Given the description of an element on the screen output the (x, y) to click on. 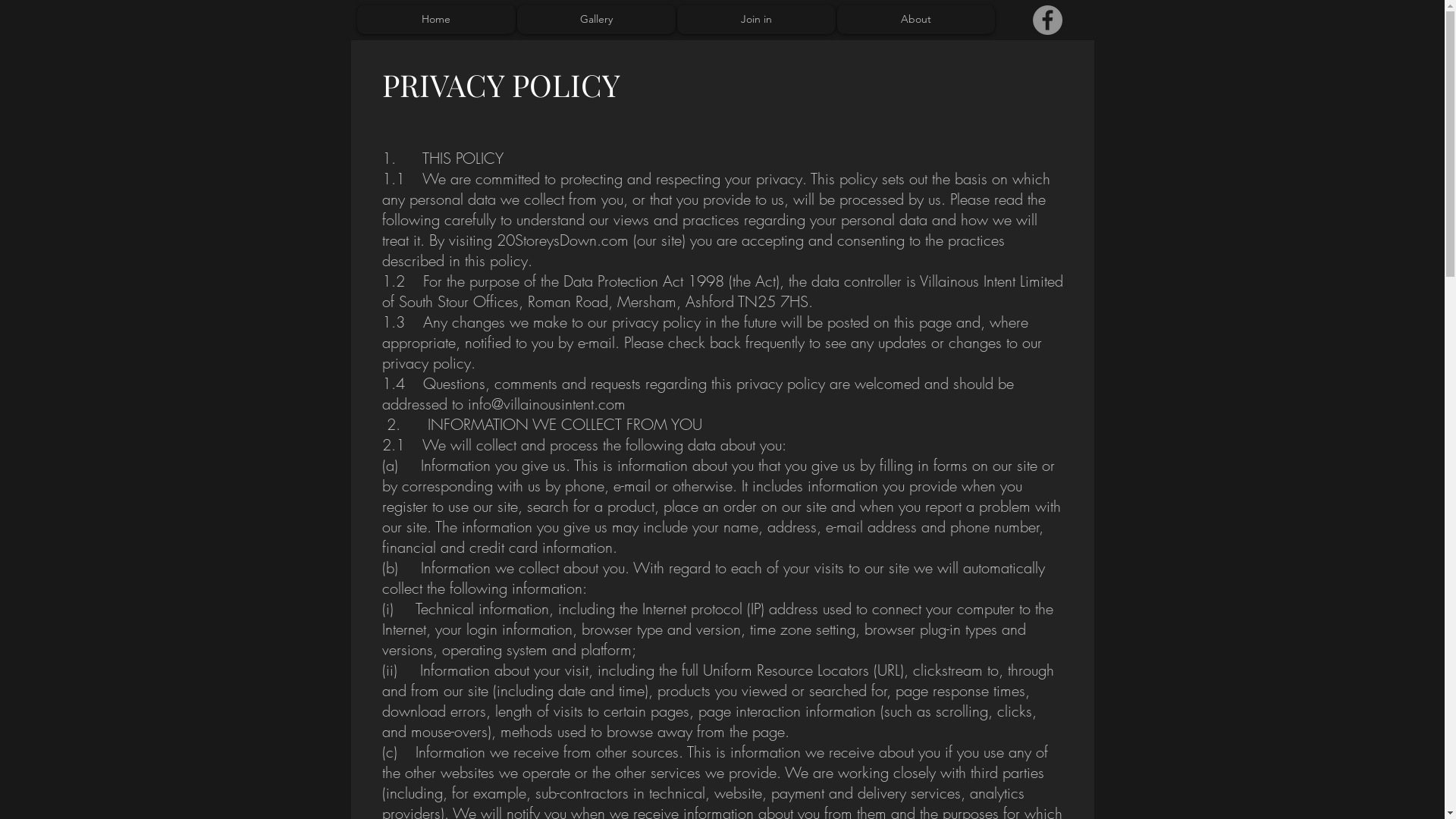
About Element type: text (915, 19)
Join in Element type: text (755, 19)
info@villainousintent.com Element type: text (545, 403)
Home Element type: text (435, 19)
Gallery Element type: text (596, 19)
